Given the description of an element on the screen output the (x, y) to click on. 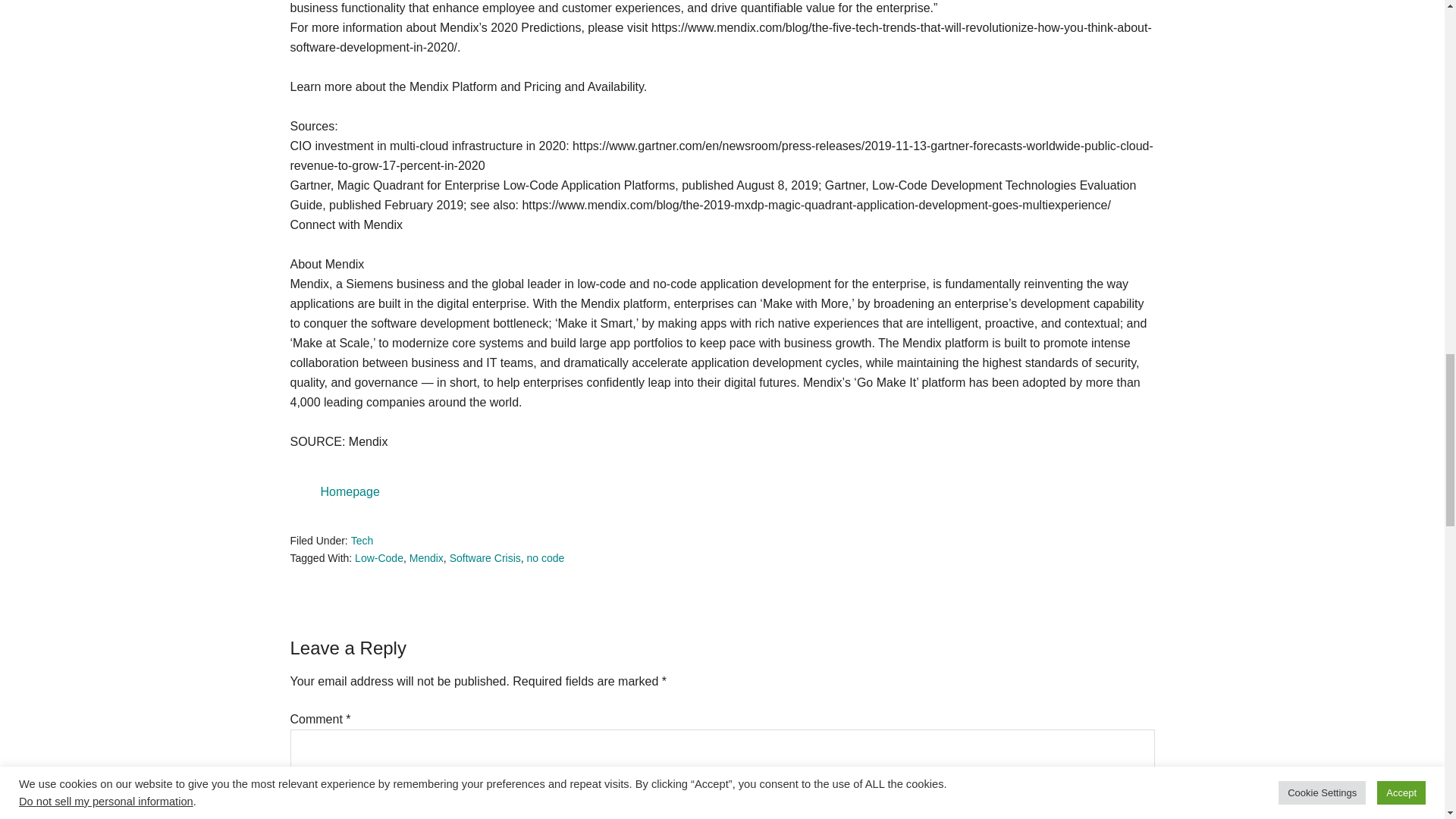
Software Crisis (485, 558)
no code (545, 558)
Mendix (426, 558)
Homepage (349, 491)
Tech (362, 540)
Low-Code (379, 558)
